Given the description of an element on the screen output the (x, y) to click on. 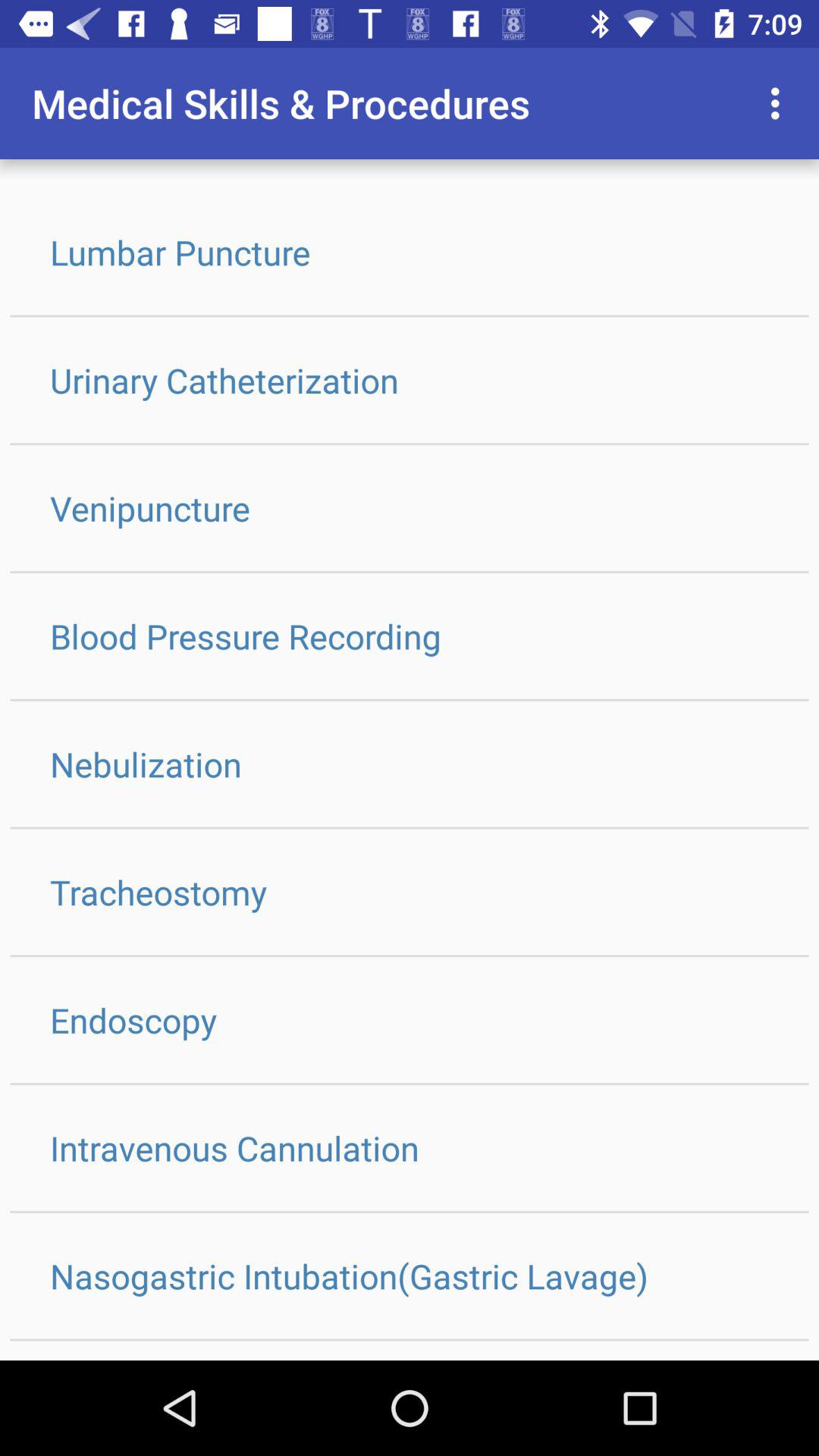
click on the icon next to medical skills  procedures (779, 103)
